Given the description of an element on the screen output the (x, y) to click on. 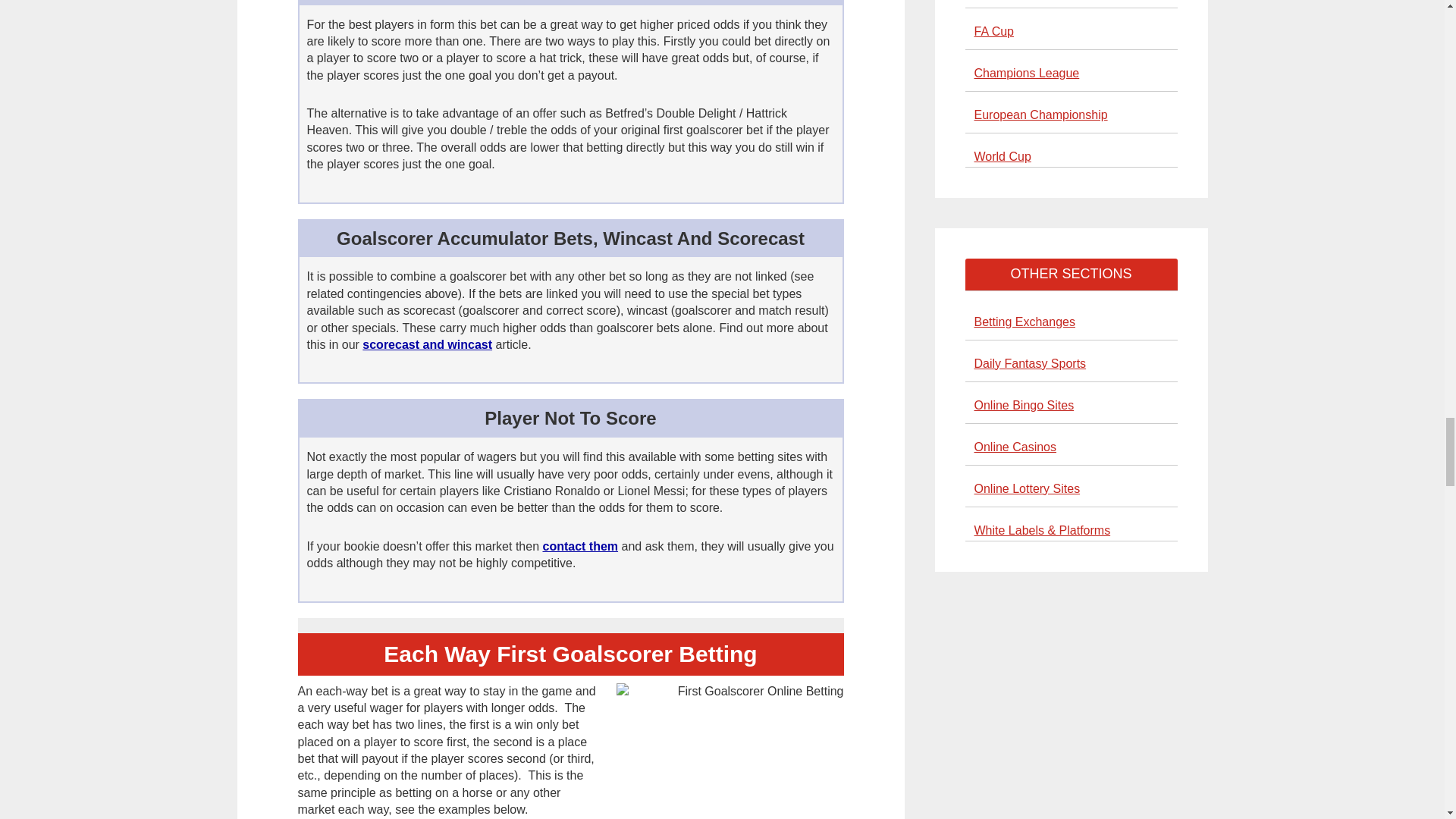
contact them (579, 545)
scorecast and wincast (427, 344)
